Given the description of an element on the screen output the (x, y) to click on. 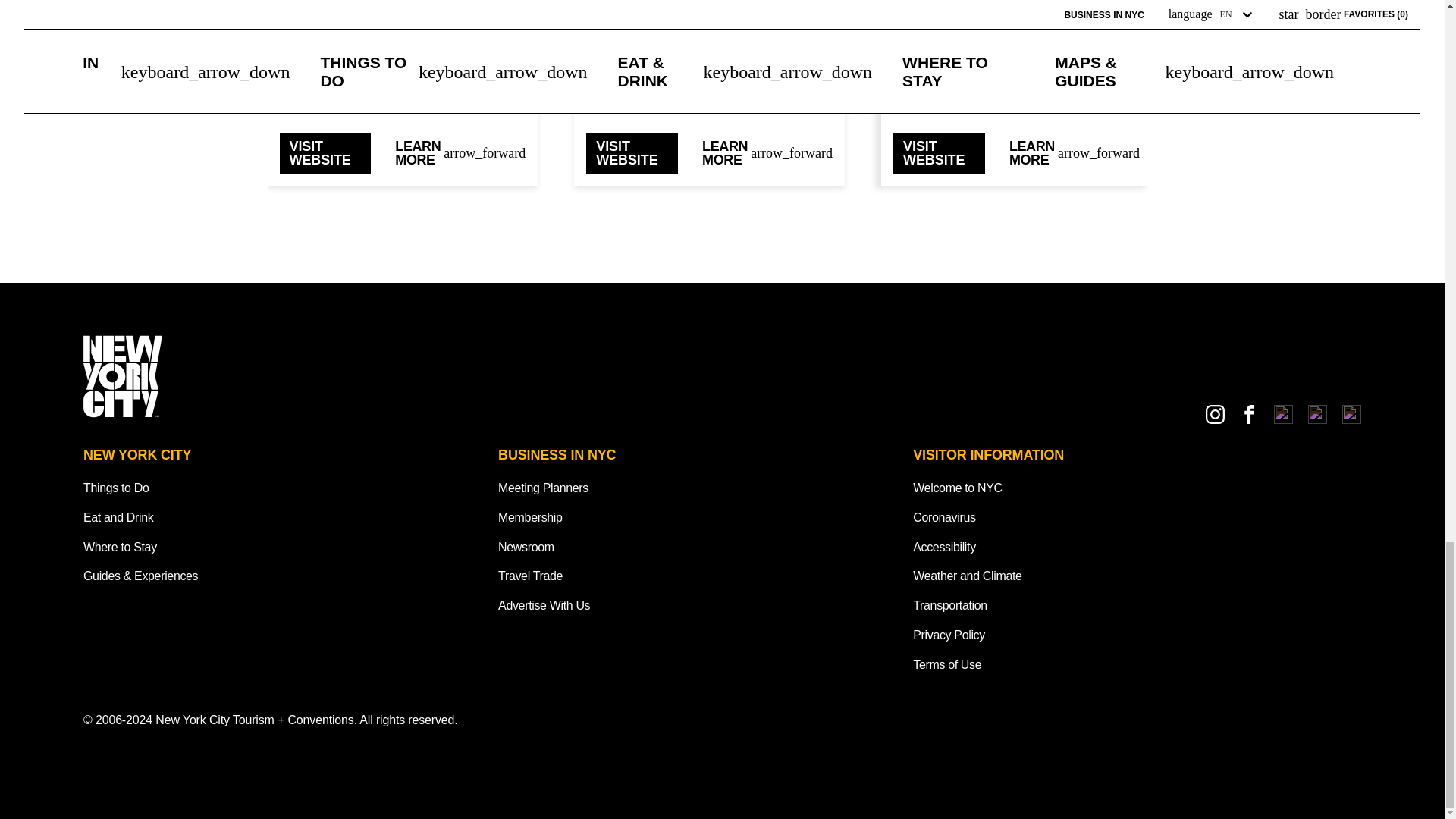
Coney Island (402, 9)
Queens Night Market (709, 9)
VISIT WEBSITE (632, 152)
VISIT WEBSITE (939, 152)
New York City Tourism and Conventions YouTube (1316, 414)
New York City Tourism and Conventions TikTok (1283, 414)
New York City Tourism and Conventions Pinterest (1351, 414)
New York City Tourism and Conventions Facebook (1249, 414)
New York City Tourism and Conventions Instagram (1214, 414)
VISIT WEBSITE (325, 152)
